Given the description of an element on the screen output the (x, y) to click on. 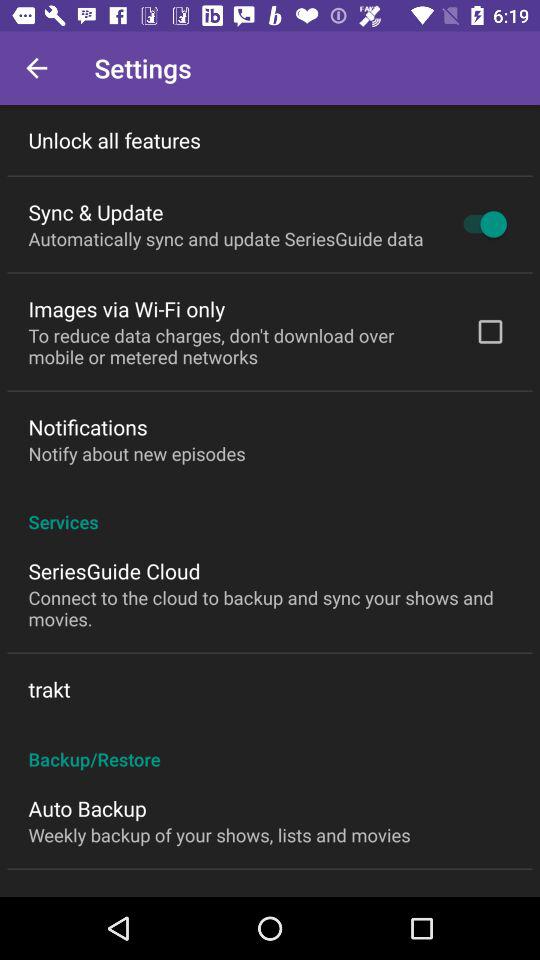
choose icon below the seriesguide cloud icon (269, 608)
